Given the description of an element on the screen output the (x, y) to click on. 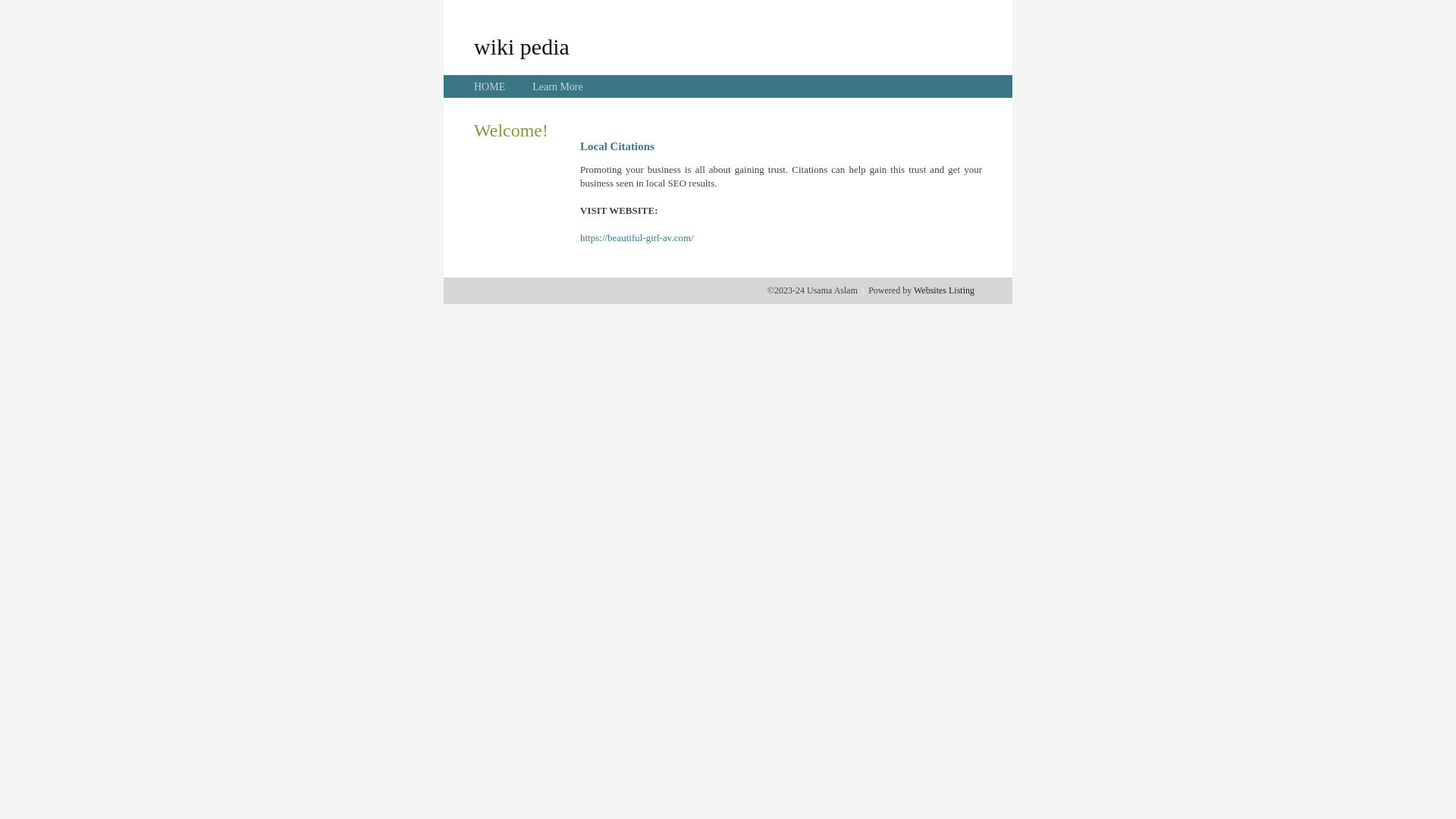
Websites Listing Element type: text (943, 290)
https://beautiful-girl-av.com/ Element type: text (636, 237)
HOME Element type: text (489, 86)
Learn More Element type: text (557, 86)
wiki pedia Element type: text (521, 46)
